Given the description of an element on the screen output the (x, y) to click on. 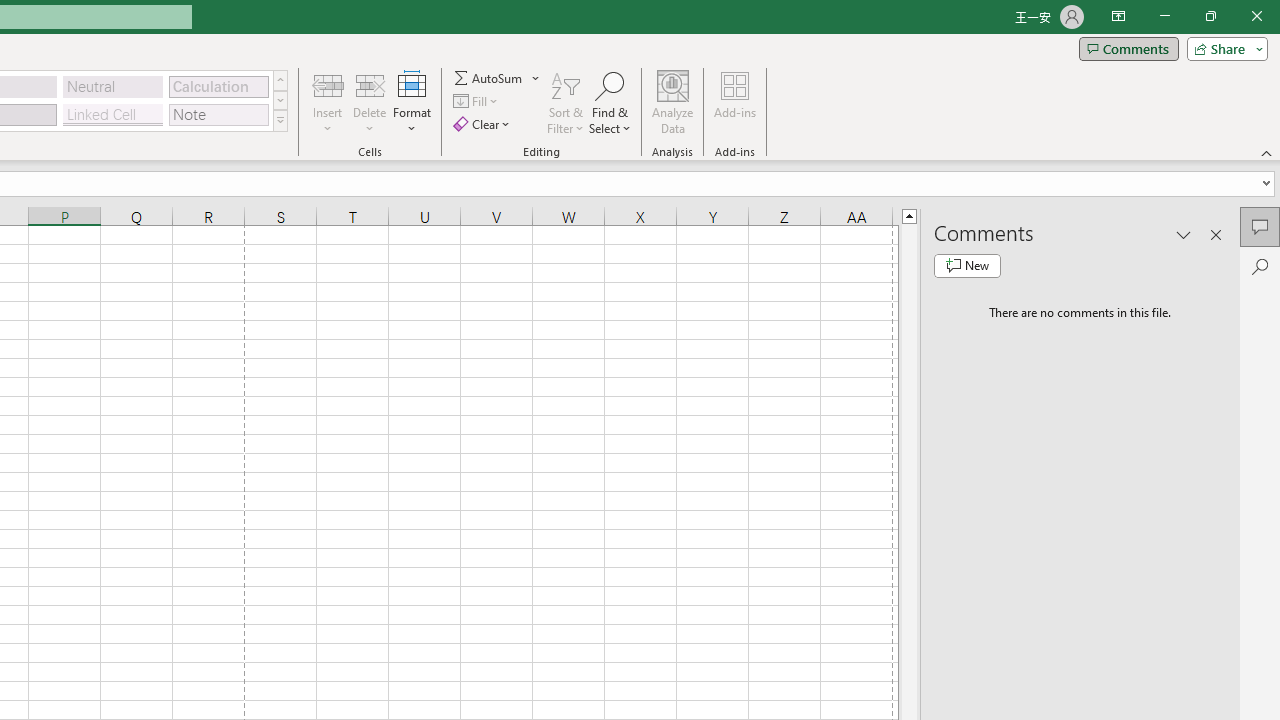
Delete Cells... (369, 84)
Format (411, 102)
Fill (477, 101)
Delete (369, 102)
Linked Cell (113, 114)
